Given the description of an element on the screen output the (x, y) to click on. 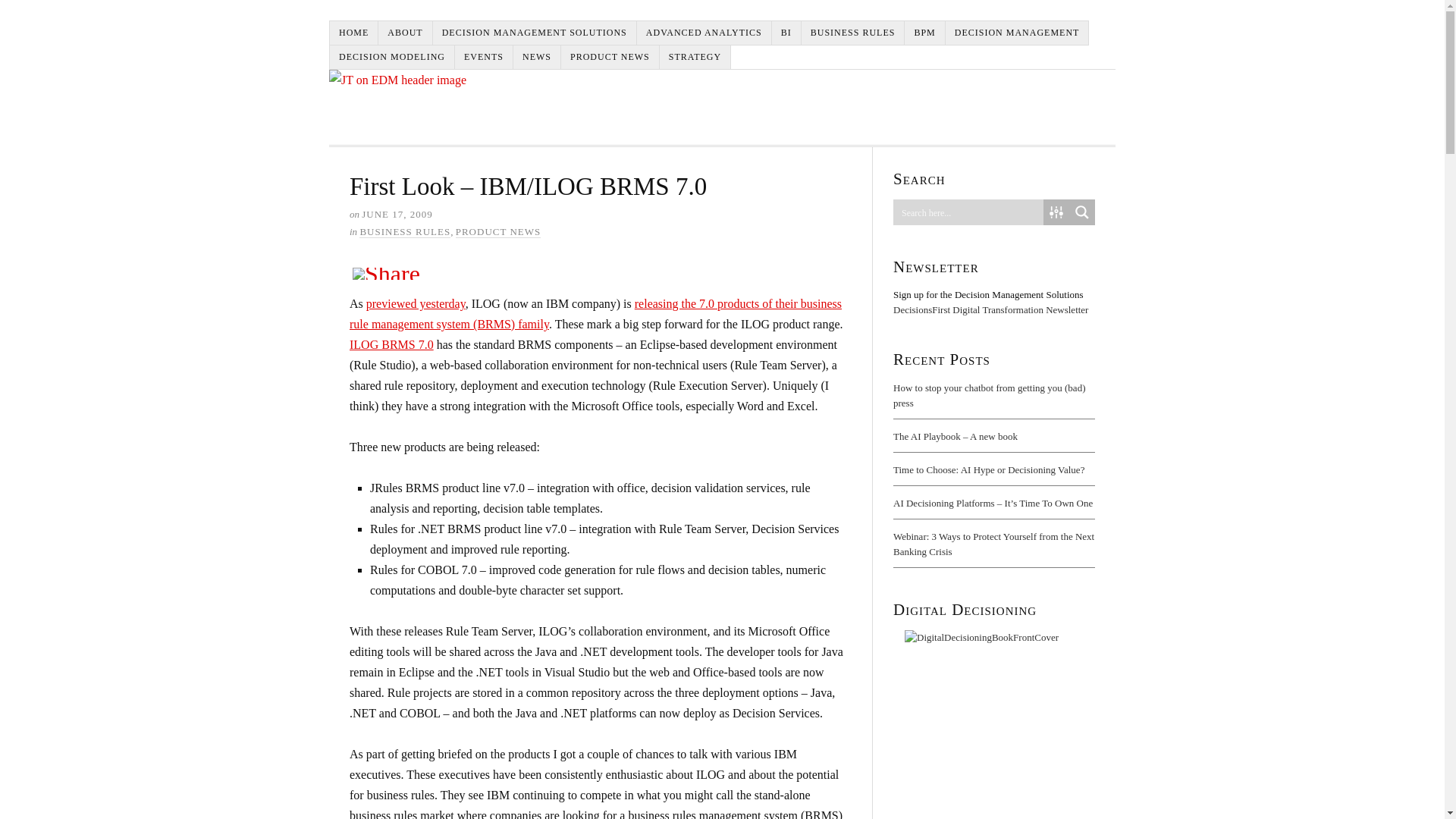
ABOUT (405, 32)
EVENTS (483, 57)
HOME (354, 32)
STRATEGY (694, 57)
previewed yesterday (415, 303)
BI (786, 32)
ADVANCED ANALYTICS (704, 32)
NEWS (536, 57)
DECISION MANAGEMENT (1016, 32)
DECISION MANAGEMENT SOLUTIONS (534, 32)
